Given the description of an element on the screen output the (x, y) to click on. 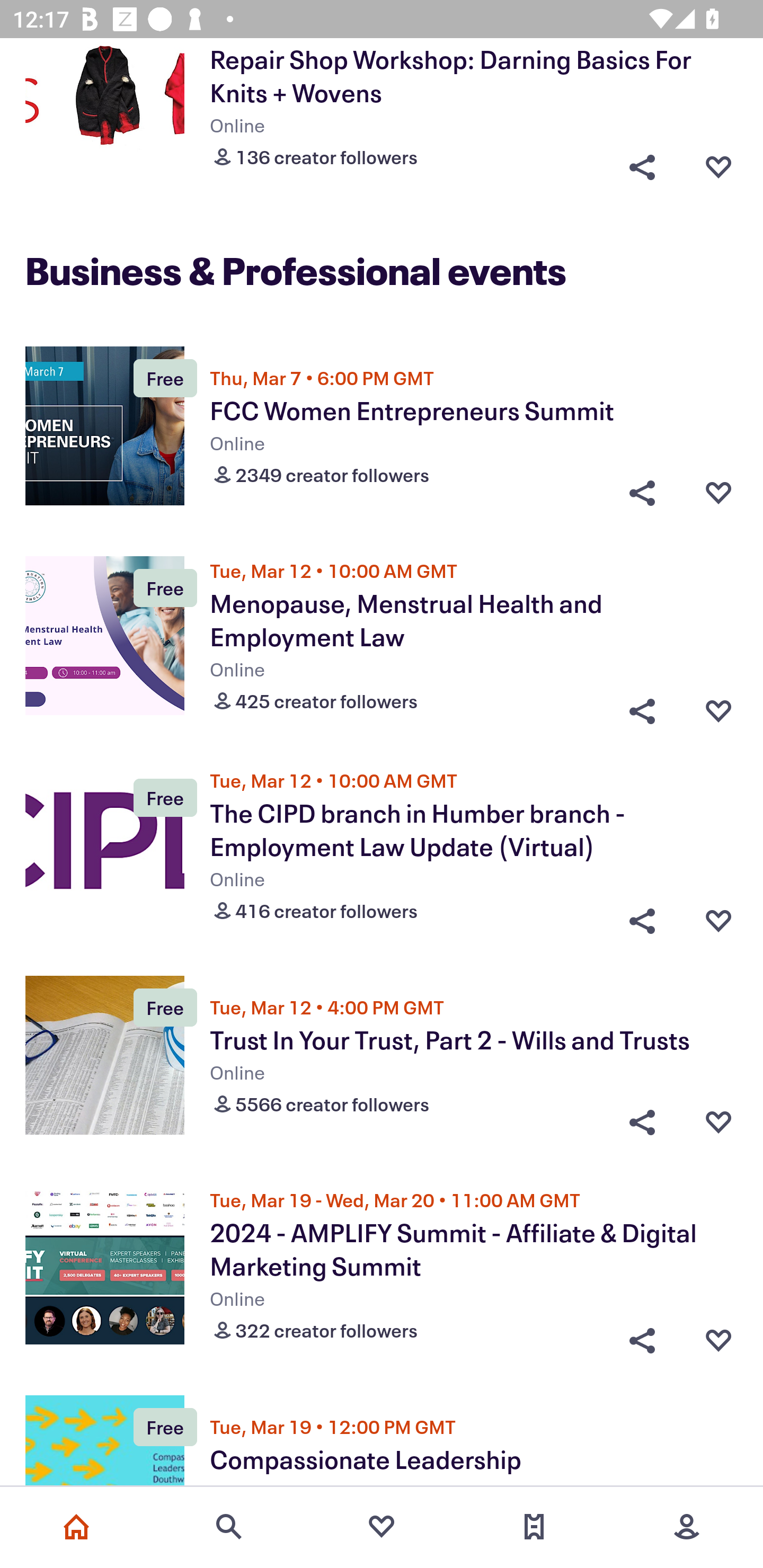
Share button (642, 162)
Favorite button (718, 162)
Share button (642, 492)
Favorite button (718, 492)
Share button (642, 706)
Favorite button (718, 706)
Share button (642, 916)
Favorite button (718, 916)
Share button (642, 1122)
Favorite button (718, 1122)
Share button (642, 1336)
Favorite button (718, 1336)
Home (76, 1526)
Search events (228, 1526)
Favorites (381, 1526)
Tickets (533, 1526)
More (686, 1526)
